Given the description of an element on the screen output the (x, y) to click on. 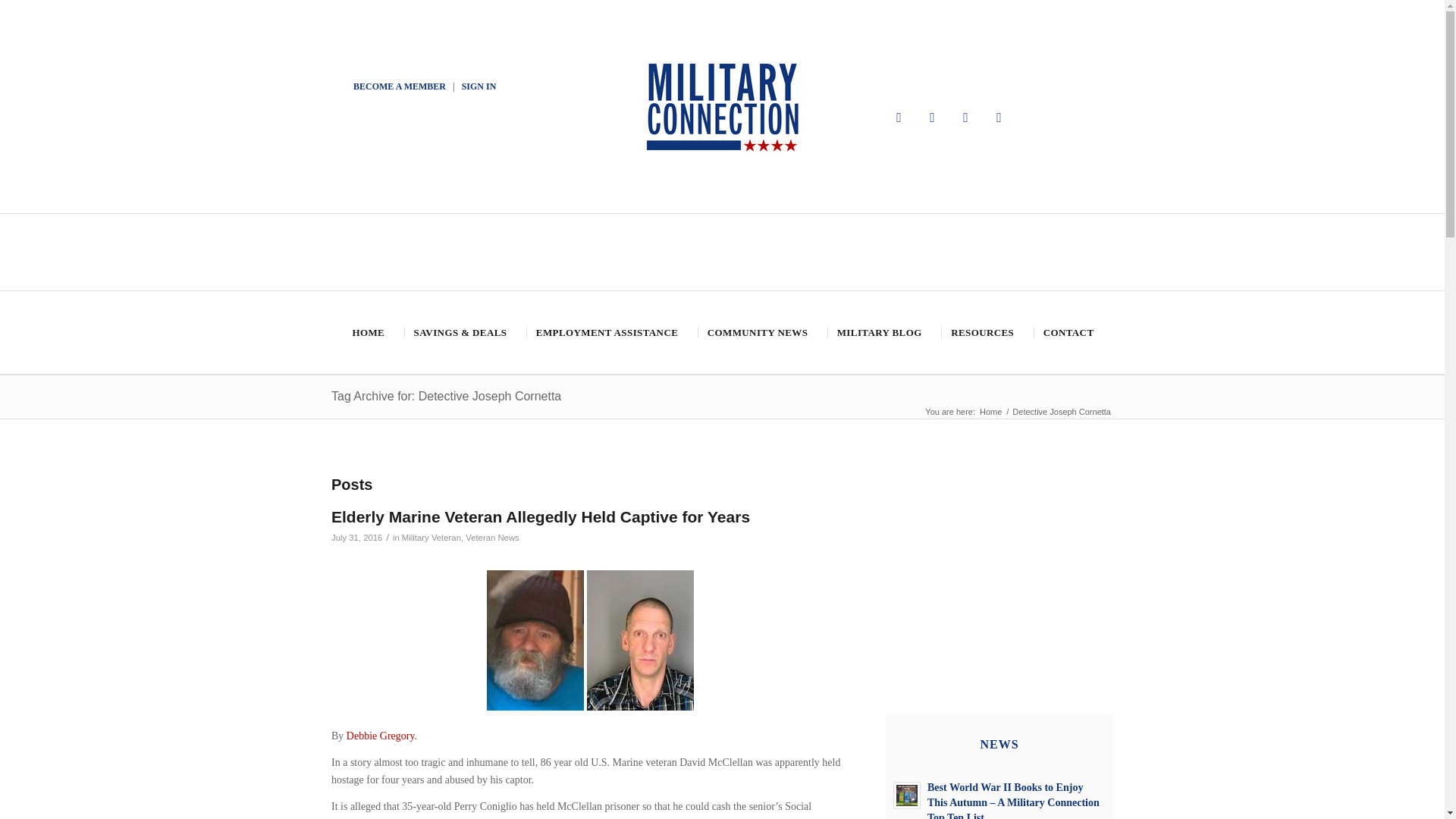
3rd party ad content (999, 552)
Debbie Gregory (380, 736)
EMPLOYMENT ASSISTANCE (605, 332)
MILITARY BLOG (878, 332)
Military Veteran (431, 537)
Pinterest (965, 117)
Veteran News (492, 537)
Tag Archive for: Detective Joseph Cornetta (445, 395)
Twitter (932, 117)
LinkedIn (999, 117)
Permanent Link: Tag Archive for: Detective Joseph Cornetta (445, 395)
COMMUNITY NEWS (756, 332)
Facebook (899, 117)
SIGN IN (478, 86)
